Given the description of an element on the screen output the (x, y) to click on. 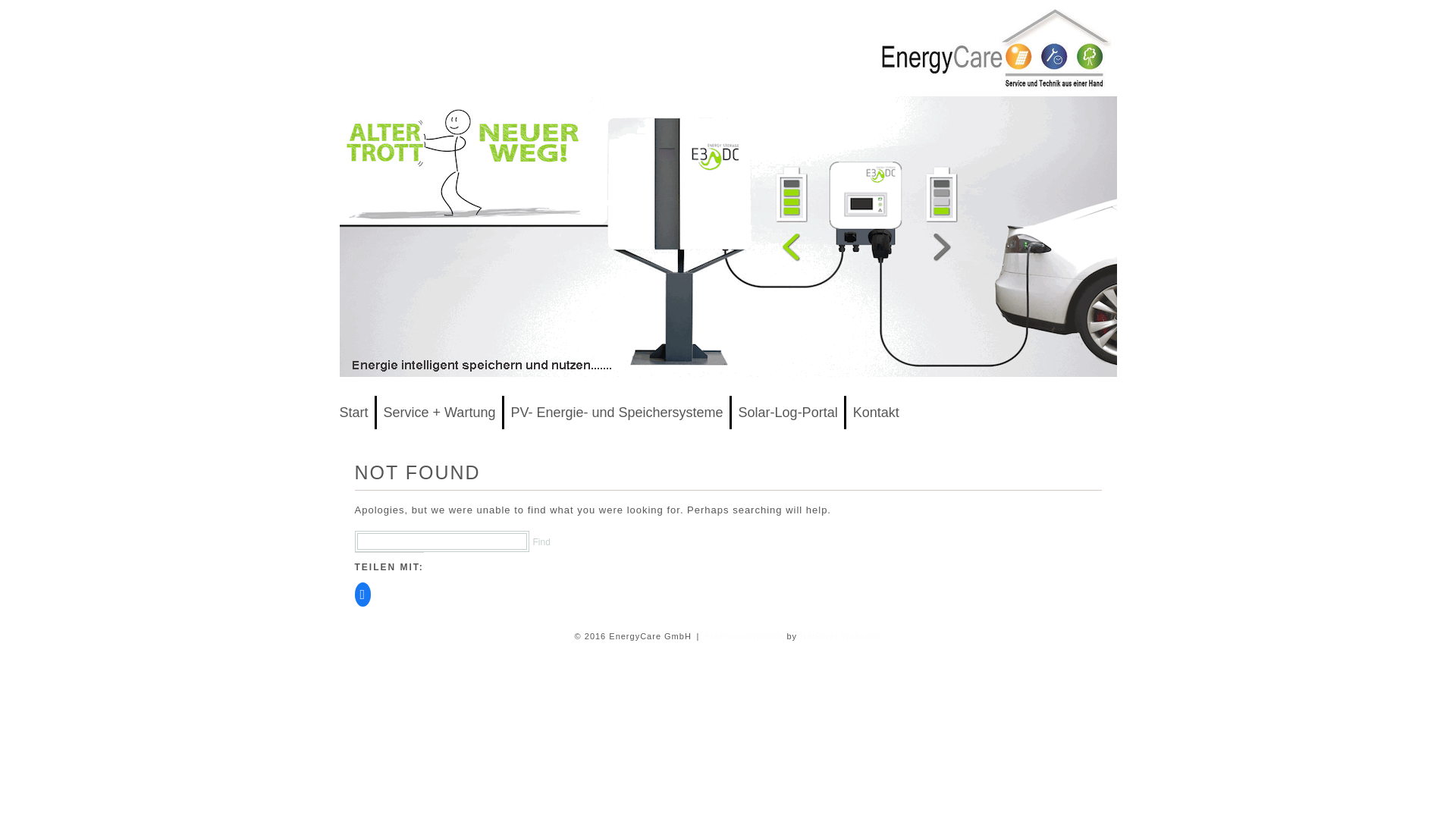
EnergyCare GmbH Element type: hover (994, 92)
Kontakt Element type: text (876, 412)
Service + Wartung Element type: text (439, 412)
Start Element type: text (353, 412)
ProPhoto Website Element type: text (743, 635)
NetRivet Websites Element type: text (840, 635)
Find Element type: text (540, 542)
PV- Energie- und Speichersysteme Element type: text (616, 412)
Solar-Log-Portal Element type: text (787, 412)
